Given the description of an element on the screen output the (x, y) to click on. 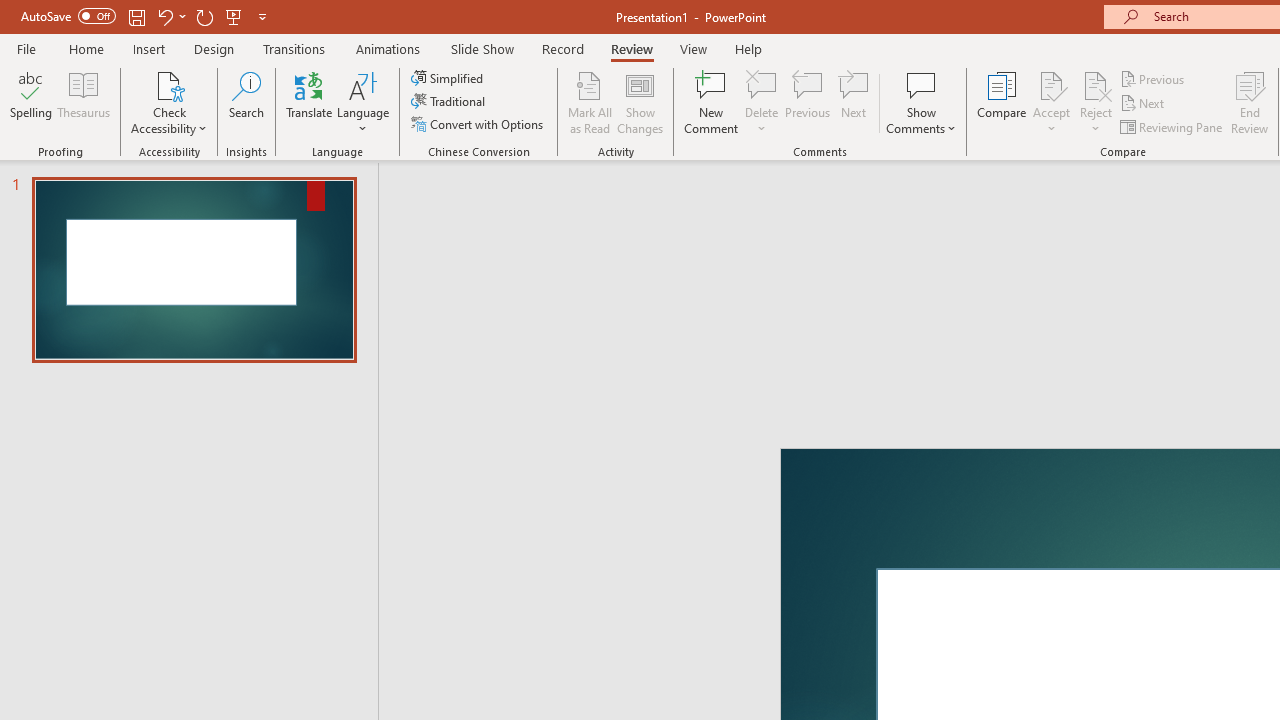
Reject (1096, 102)
Accept Change (1051, 84)
